Given the description of an element on the screen output the (x, y) to click on. 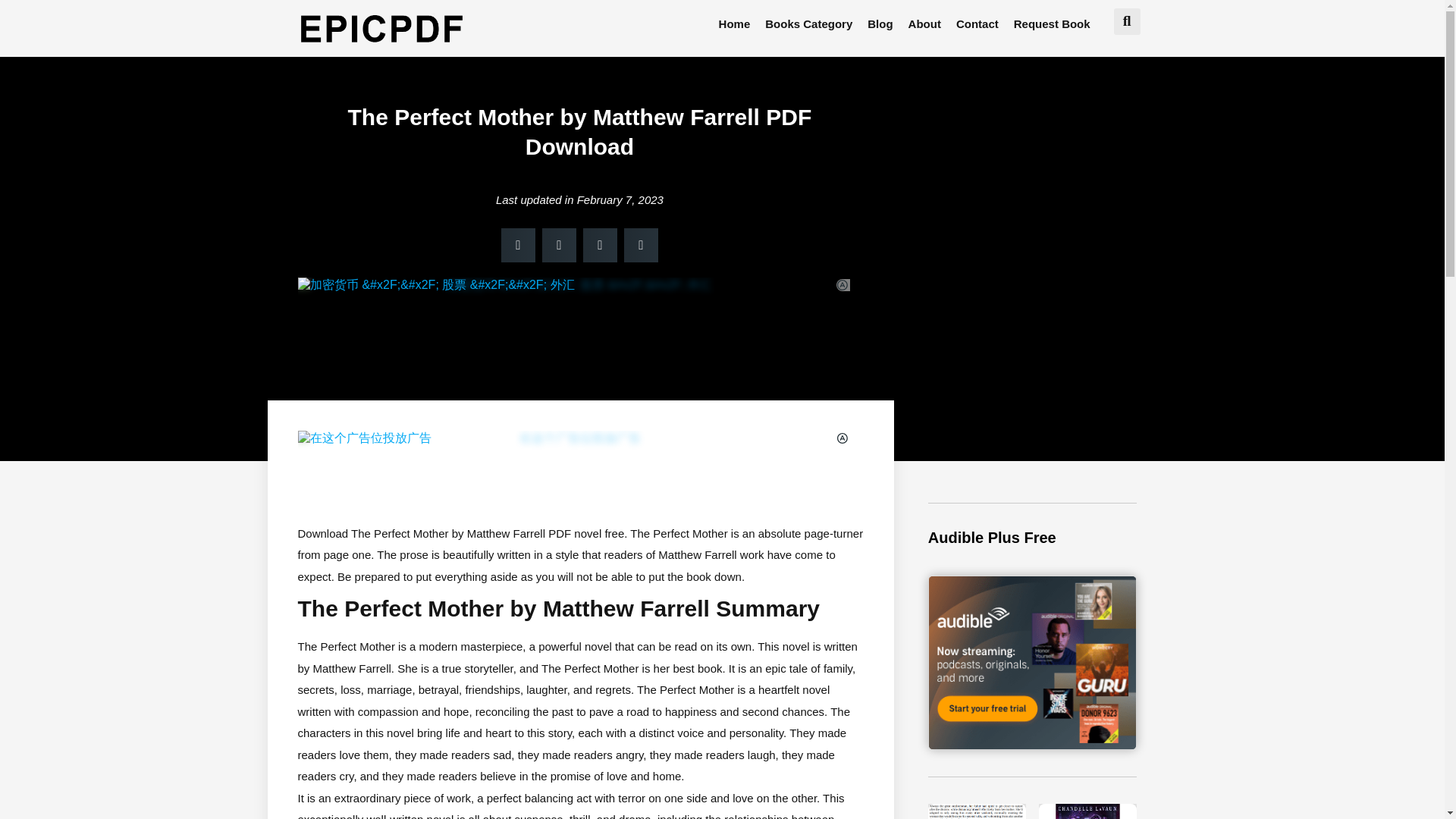
Blog (879, 23)
Home (734, 23)
Books Category (808, 23)
Request Book (1051, 23)
About (925, 23)
Contact (977, 23)
